Given the description of an element on the screen output the (x, y) to click on. 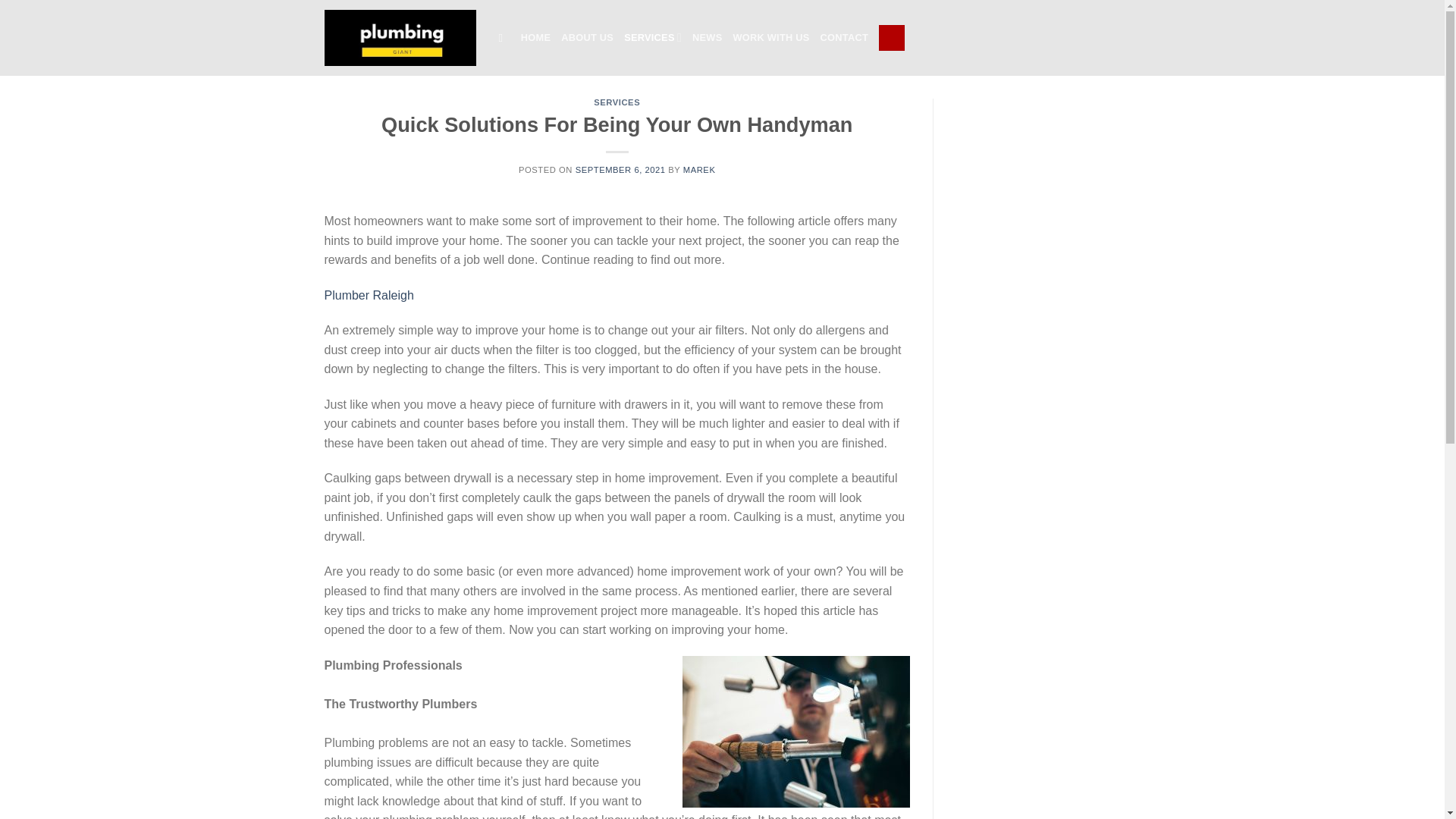
MAREK (699, 169)
Plumber Raleigh (368, 295)
Plumbing Giant - Call the BEST, flush the best (400, 37)
CONTACT (844, 37)
SEPTEMBER 6, 2021 (620, 169)
SERVICES (652, 37)
WORK WITH US (770, 37)
SERVICES (617, 102)
HOME (535, 37)
NEWS (707, 37)
ABOUT US (586, 37)
